Given the description of an element on the screen output the (x, y) to click on. 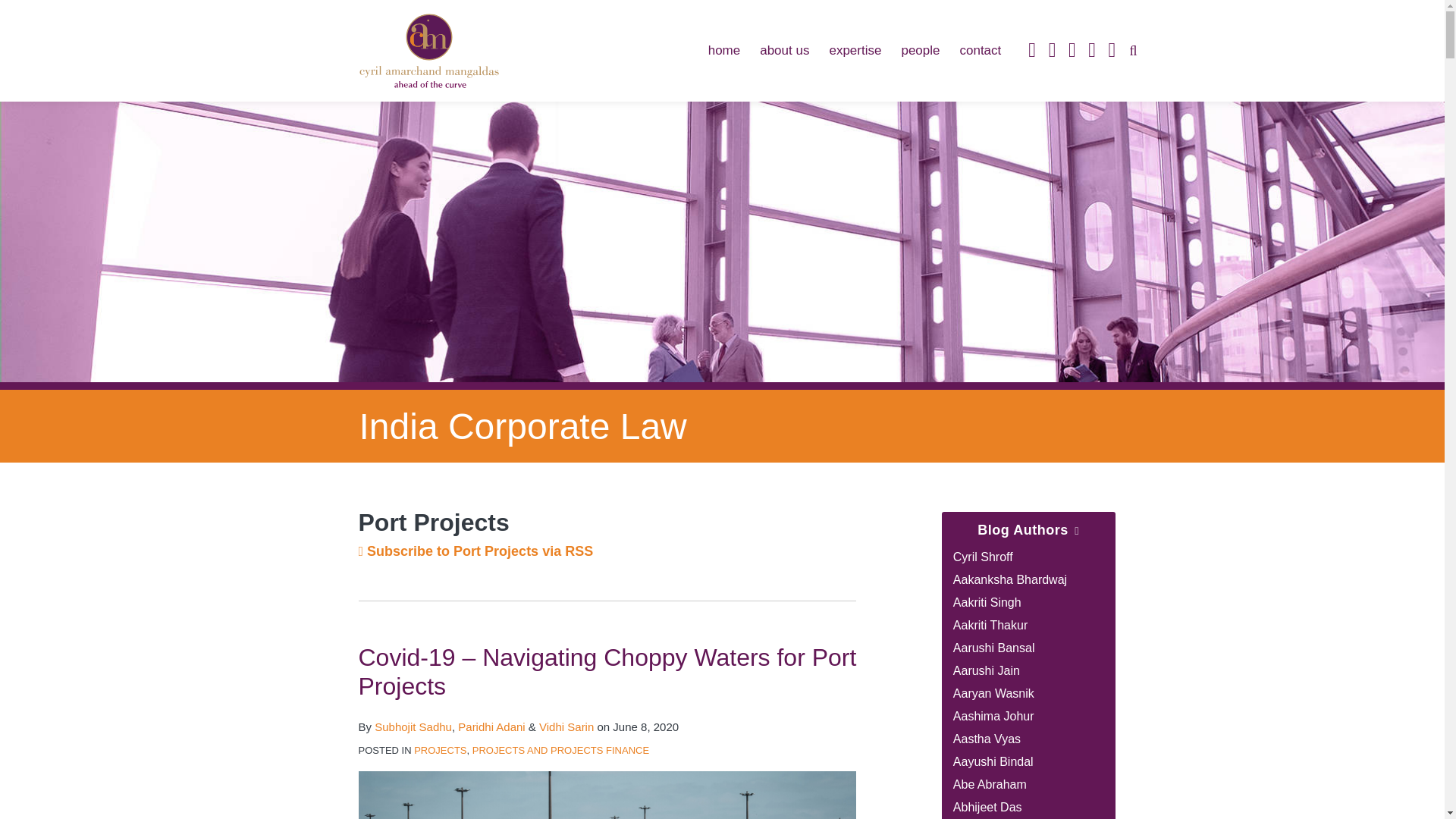
Aarushi Jain (986, 670)
Aayushi Bindal (993, 761)
Aakanksha Bhardwaj (1010, 579)
Aakriti Singh (987, 602)
Aashima Johur (993, 716)
Abhijeet Das (987, 807)
about us (784, 50)
Cyril Shroff (983, 556)
Abe Abraham (989, 784)
Paridhi Adani (491, 726)
